Given the description of an element on the screen output the (x, y) to click on. 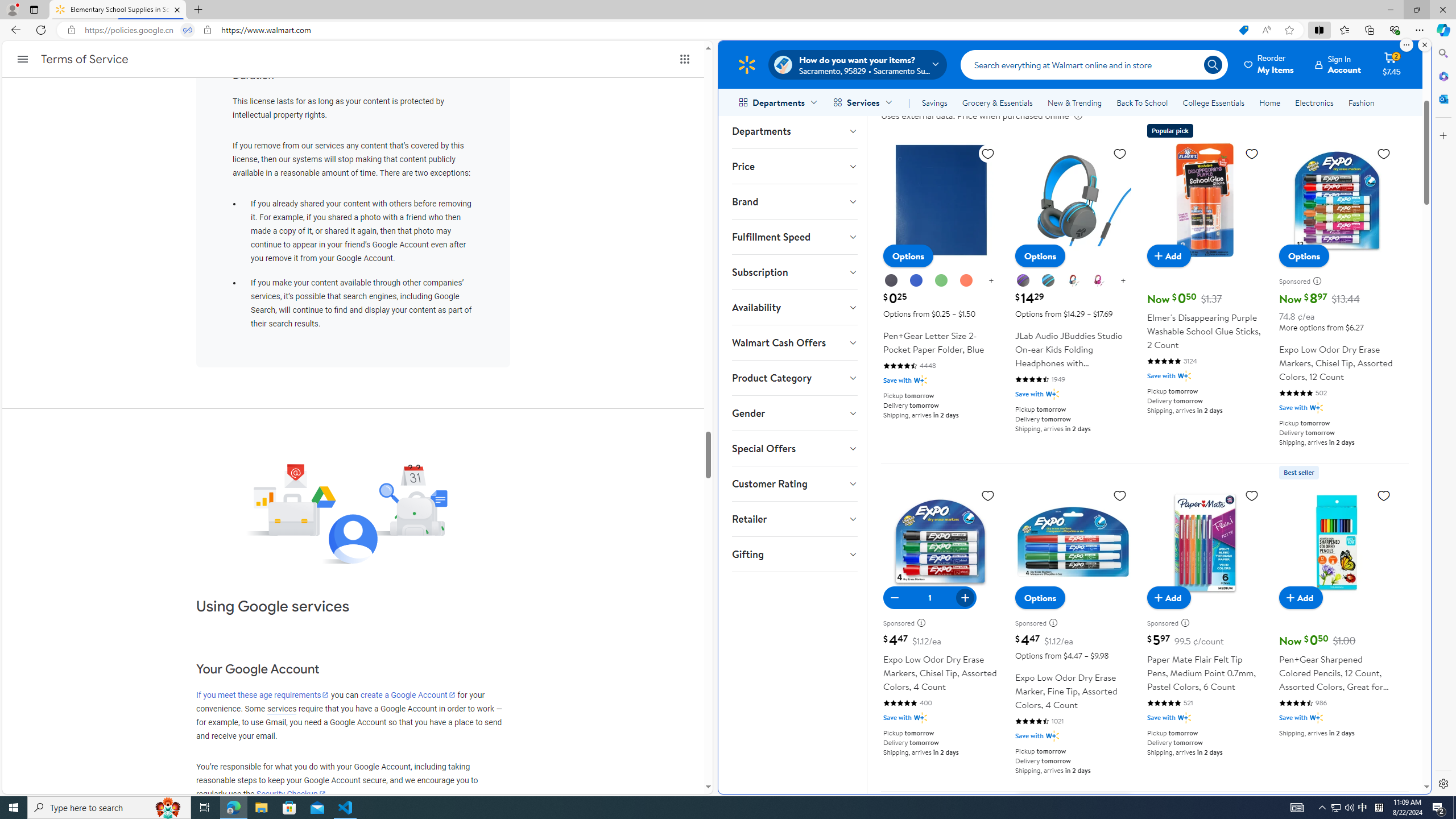
Pink (1097, 280)
Walmart Cash Offers (794, 342)
Pen+Gear Letter Size 2-Pocket Paper Folder, Blue (940, 200)
Graphite Purple (1023, 280)
More options. (1406, 45)
Side bar (1443, 418)
Gender (794, 412)
Pink (1098, 280)
Special Offers (794, 448)
Close Search pane (1442, 53)
Close (1442, 9)
Multicolor (1073, 280)
Green (940, 280)
